Given the description of an element on the screen output the (x, y) to click on. 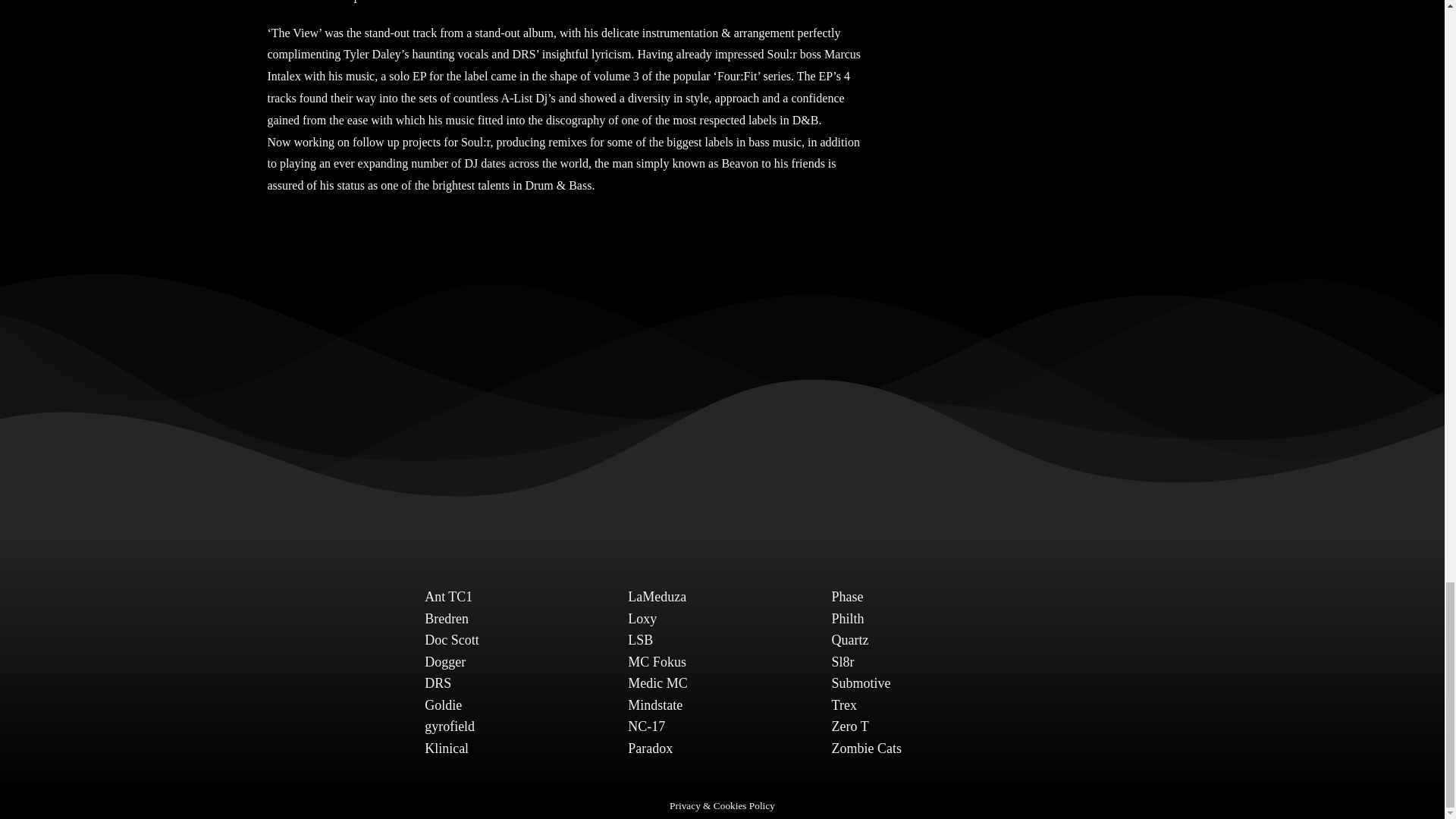
MC Fokus (656, 661)
Bredren (446, 618)
Ant TC1 (448, 596)
Doc Scott (452, 639)
gyrofield (449, 726)
Loxy (641, 618)
Klinical (446, 747)
DRS (438, 683)
Goldie (443, 704)
Dogger (445, 661)
LSB (639, 639)
LaMeduza (656, 596)
